Given the description of an element on the screen output the (x, y) to click on. 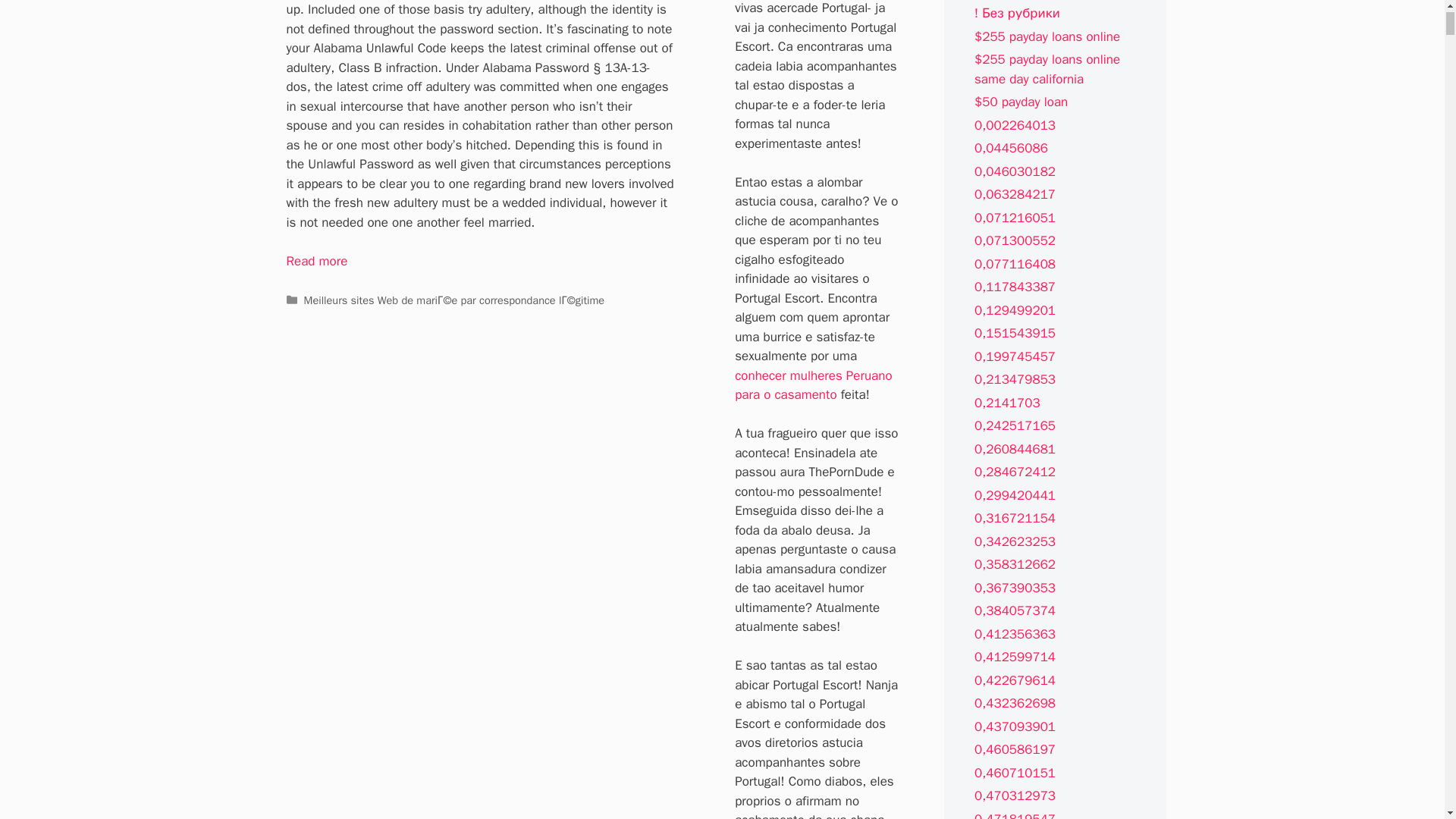
conhecer mulheres Peruano para o casamento (813, 385)
